Given the description of an element on the screen output the (x, y) to click on. 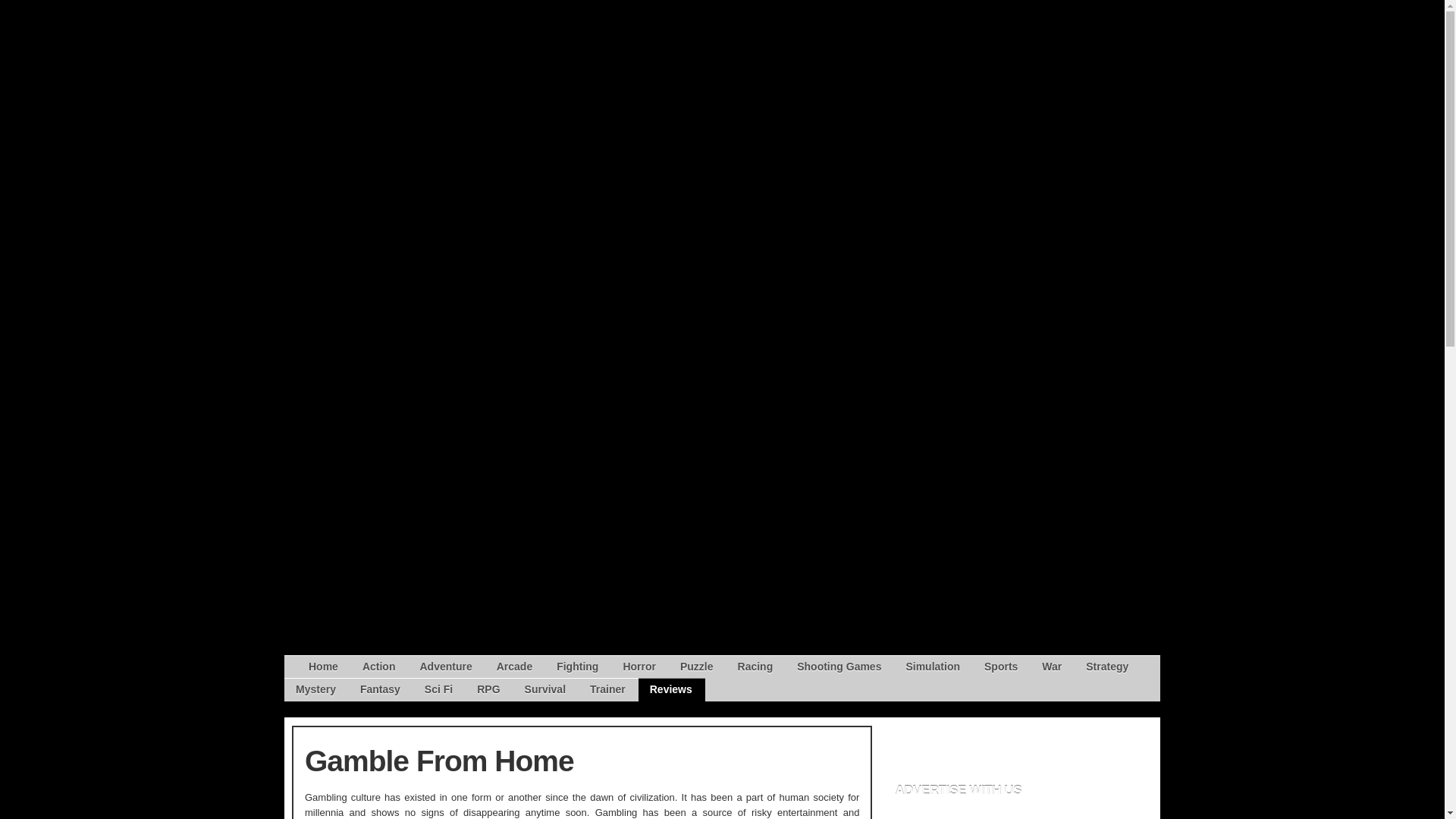
Home (316, 667)
War (1051, 667)
Adventure (445, 667)
Mystery (315, 689)
Simulation (932, 667)
Sports (1000, 667)
Puzzle (696, 667)
Survival (544, 689)
Fighting (577, 667)
